Given the description of an element on the screen output the (x, y) to click on. 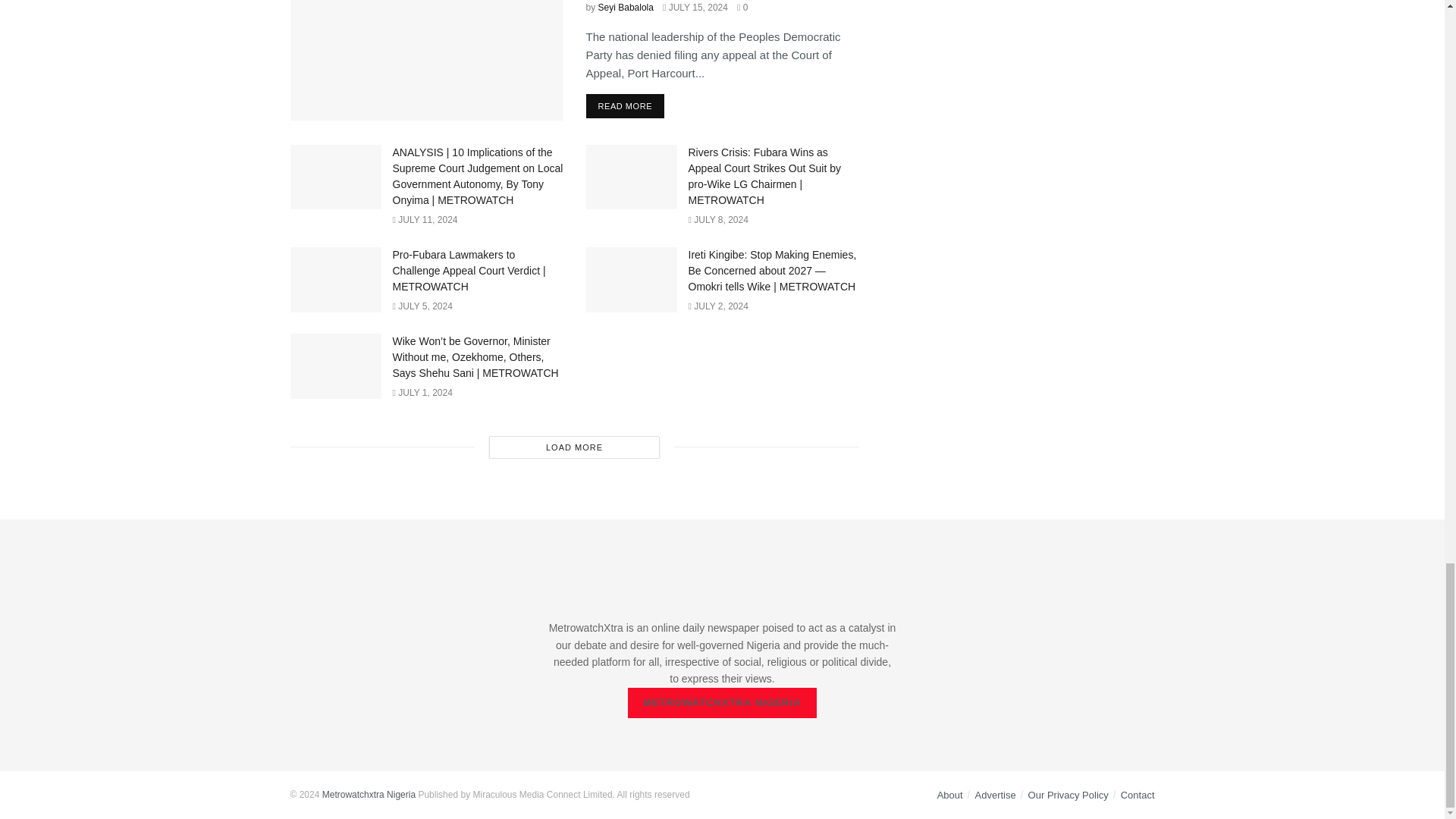
Metrowatch Nigeria (367, 794)
